Given the description of an element on the screen output the (x, y) to click on. 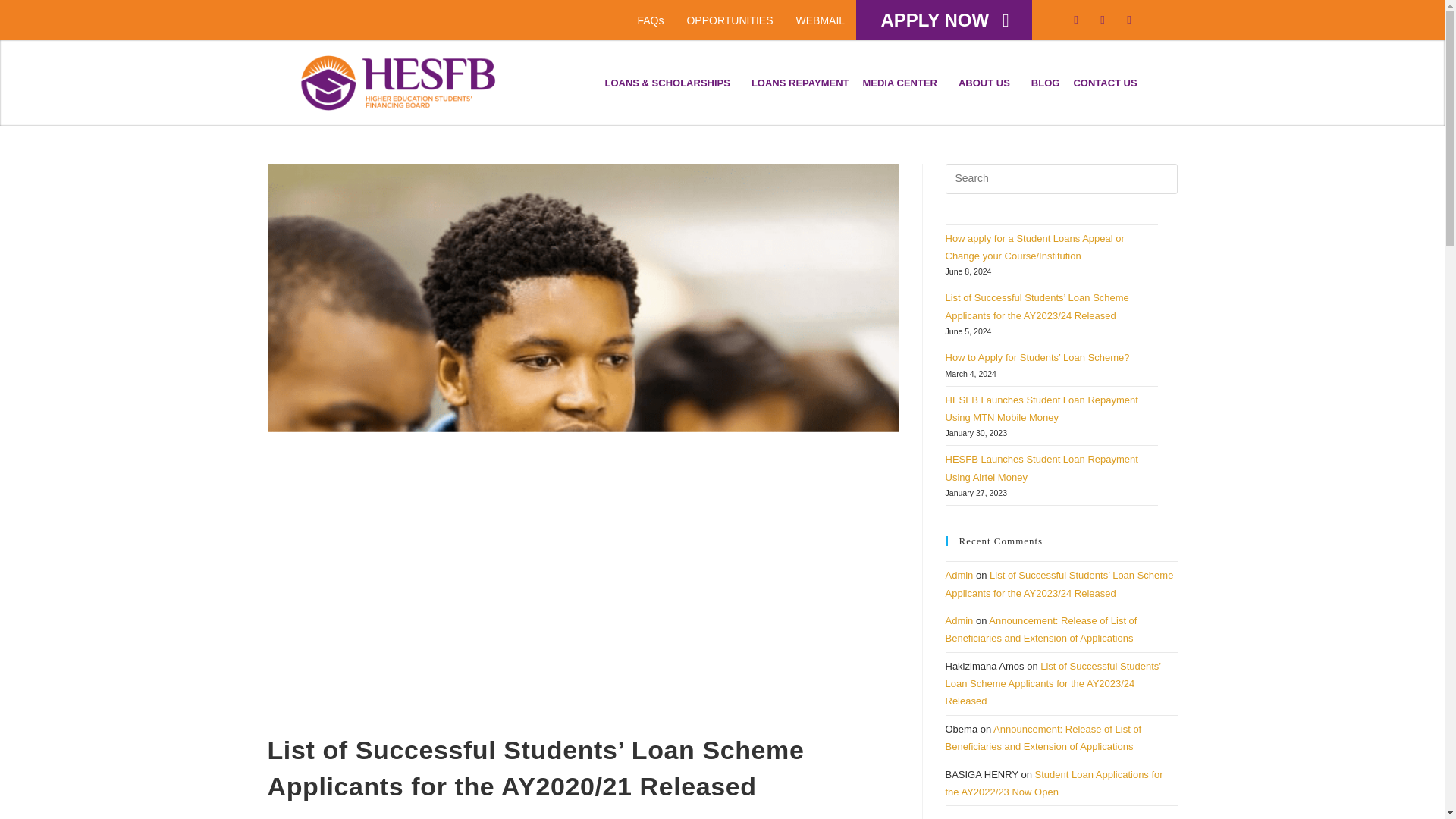
LOANS REPAYMENT (800, 82)
OPPORTUNITIES (729, 20)
FAQs (650, 20)
MEDIA CENTER (903, 82)
APPLY NOW (943, 20)
WEBMAIL (820, 20)
